Given the description of an element on the screen output the (x, y) to click on. 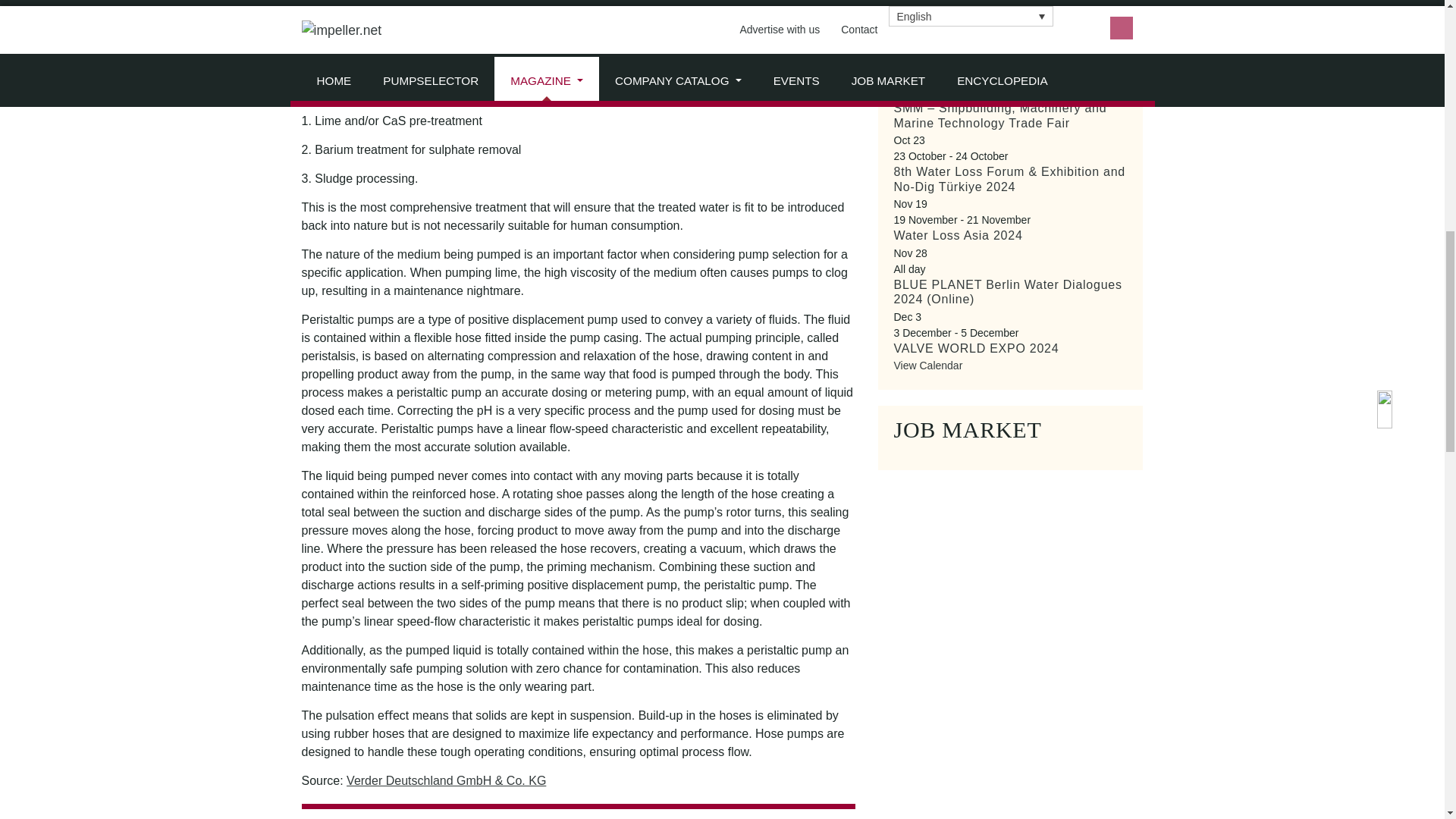
Water Loss Asia 2024 (957, 235)
VALVE WORLD EXPO 2024 (975, 348)
View more events. (927, 365)
